Given the description of an element on the screen output the (x, y) to click on. 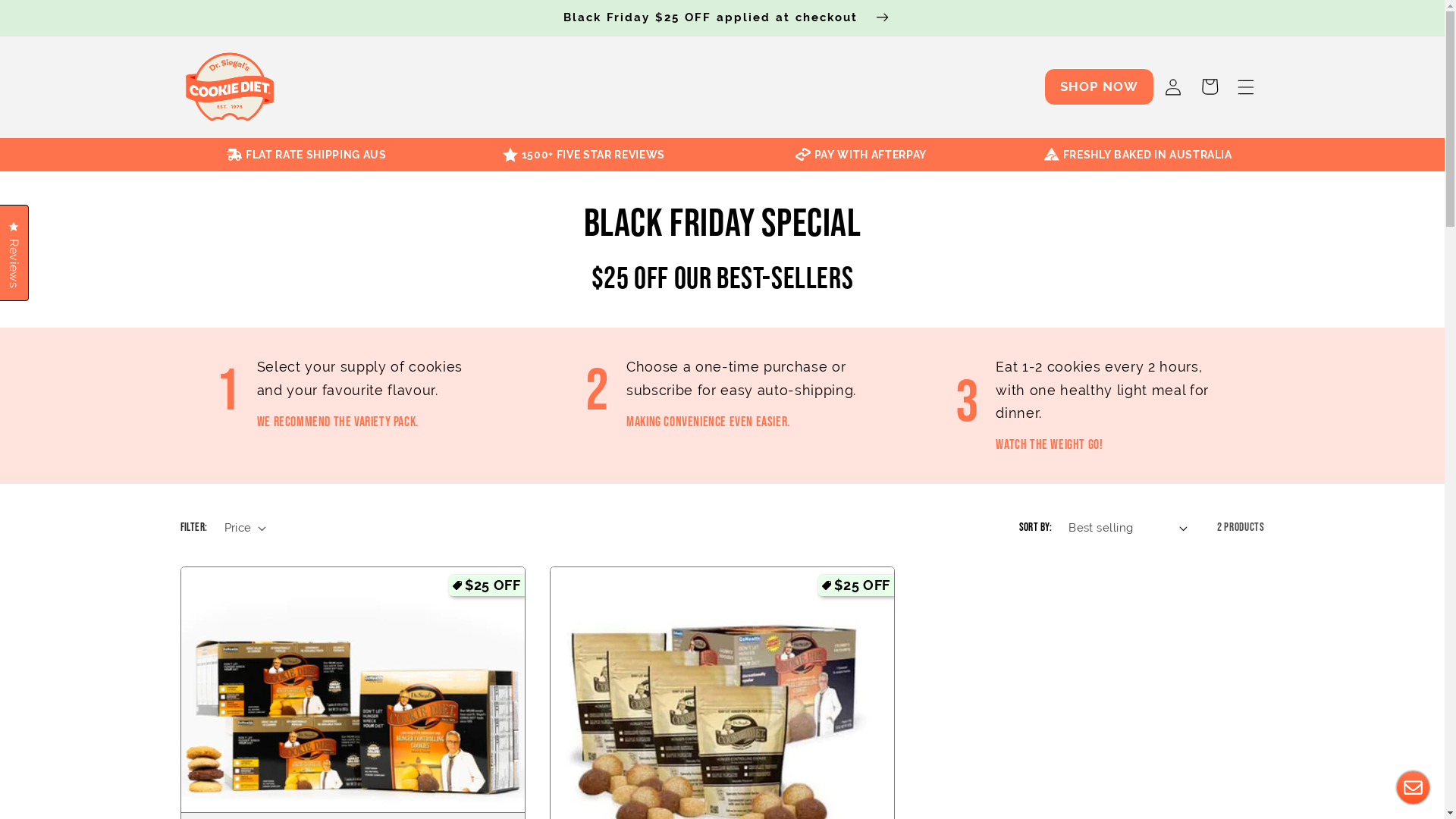
Log in Element type: text (1172, 86)
SHOP
 NOW Element type: text (1099, 86)
Cart Element type: text (1209, 86)
